Given the description of an element on the screen output the (x, y) to click on. 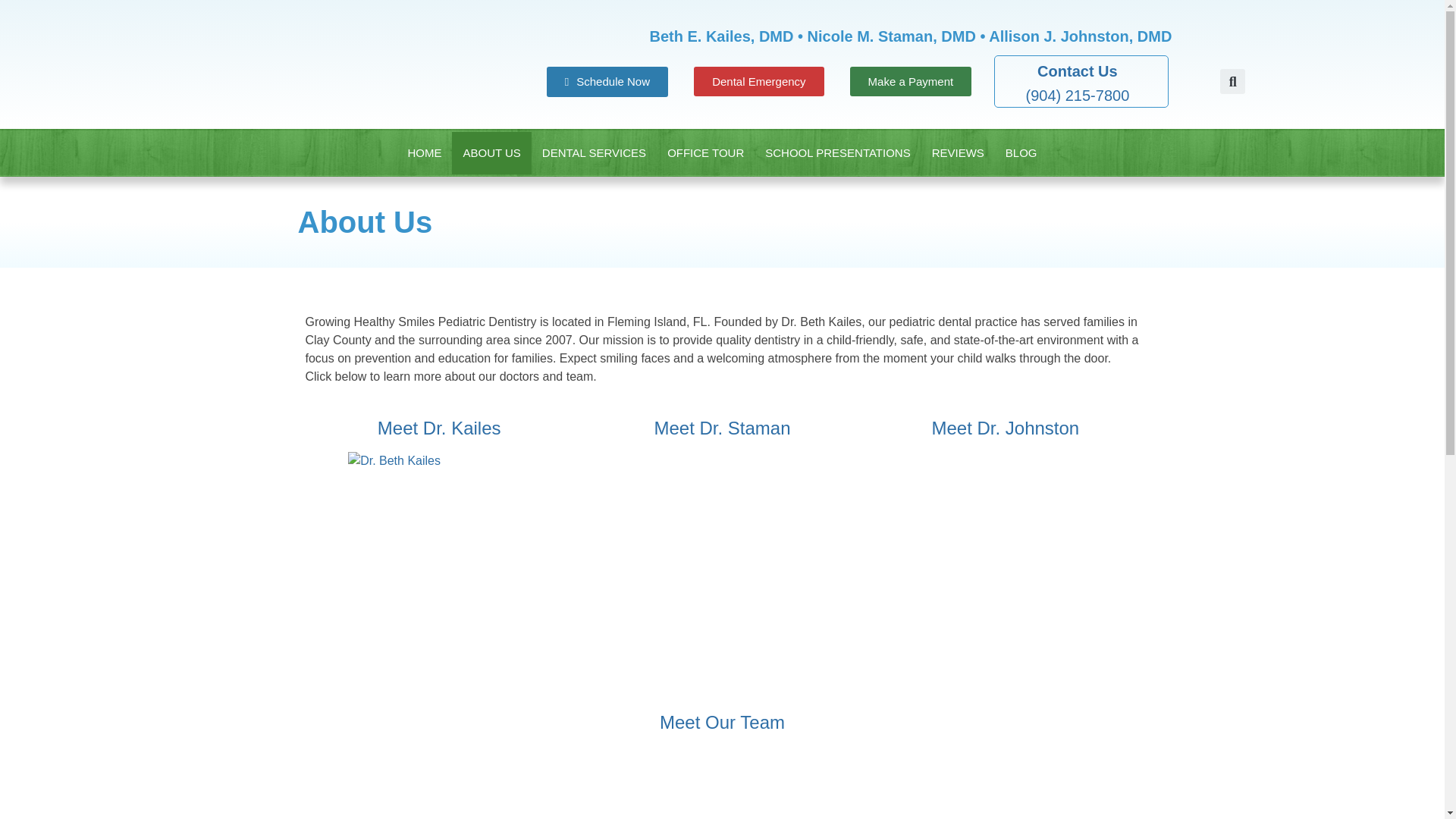
OFFICE TOUR (705, 152)
Contact Us (1077, 71)
Schedule Now (607, 81)
Meet Our Staff (721, 721)
DENTAL SERVICES (593, 152)
ABOUT US (491, 152)
Meet Dr. Nicole Staman (721, 427)
Meet Dr. Allison Johnston (1004, 427)
SCHOOL PRESENTATIONS (837, 152)
Pediatric Dental Services (593, 152)
